Given the description of an element on the screen output the (x, y) to click on. 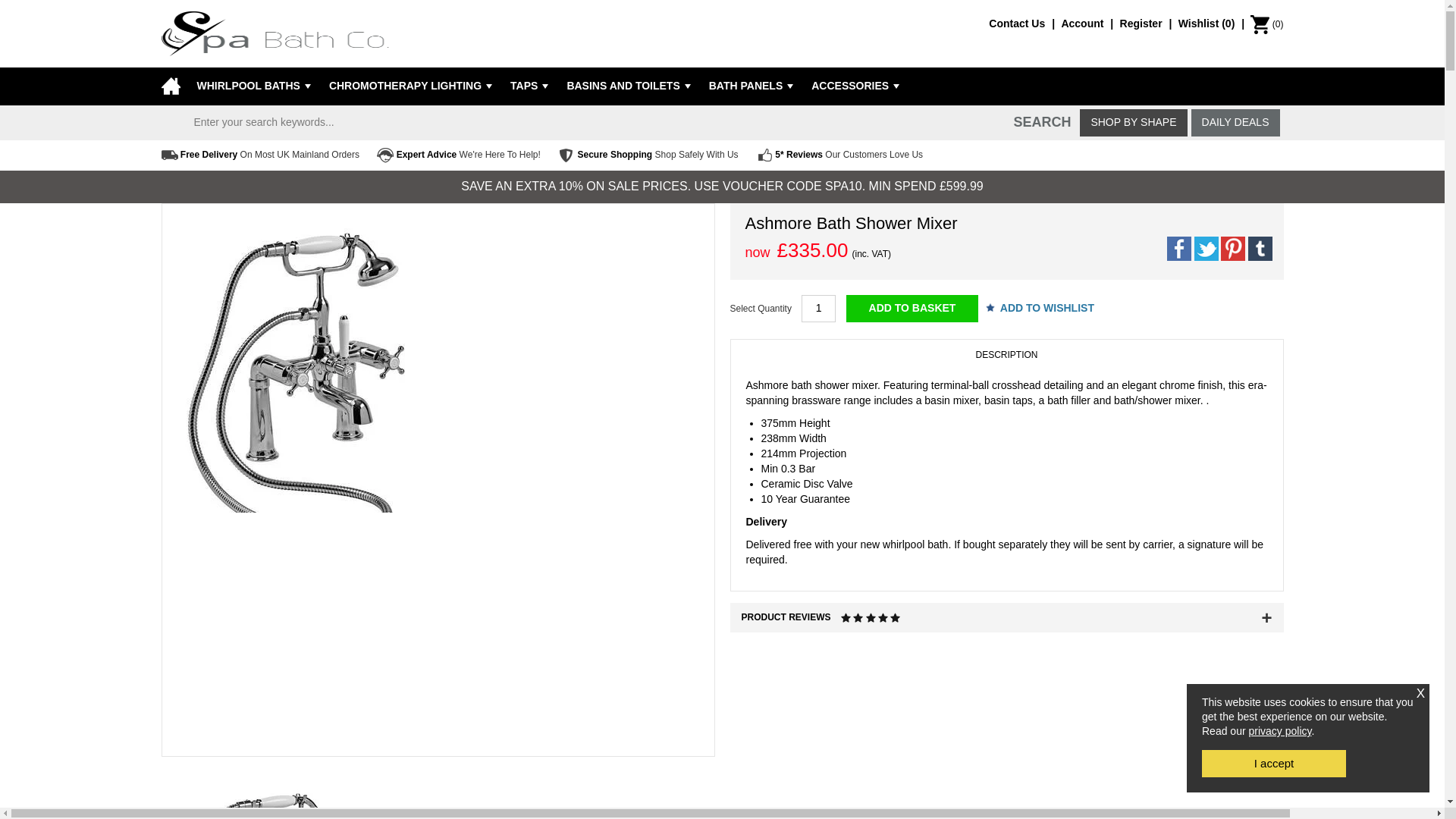
TAPS (526, 85)
Account (1088, 23)
CHROMOTHERAPY LIGHTING (408, 85)
WHIRLPOOL BATHS (255, 85)
Contact Us (1023, 23)
1 (818, 308)
Register (1147, 23)
